Given the description of an element on the screen output the (x, y) to click on. 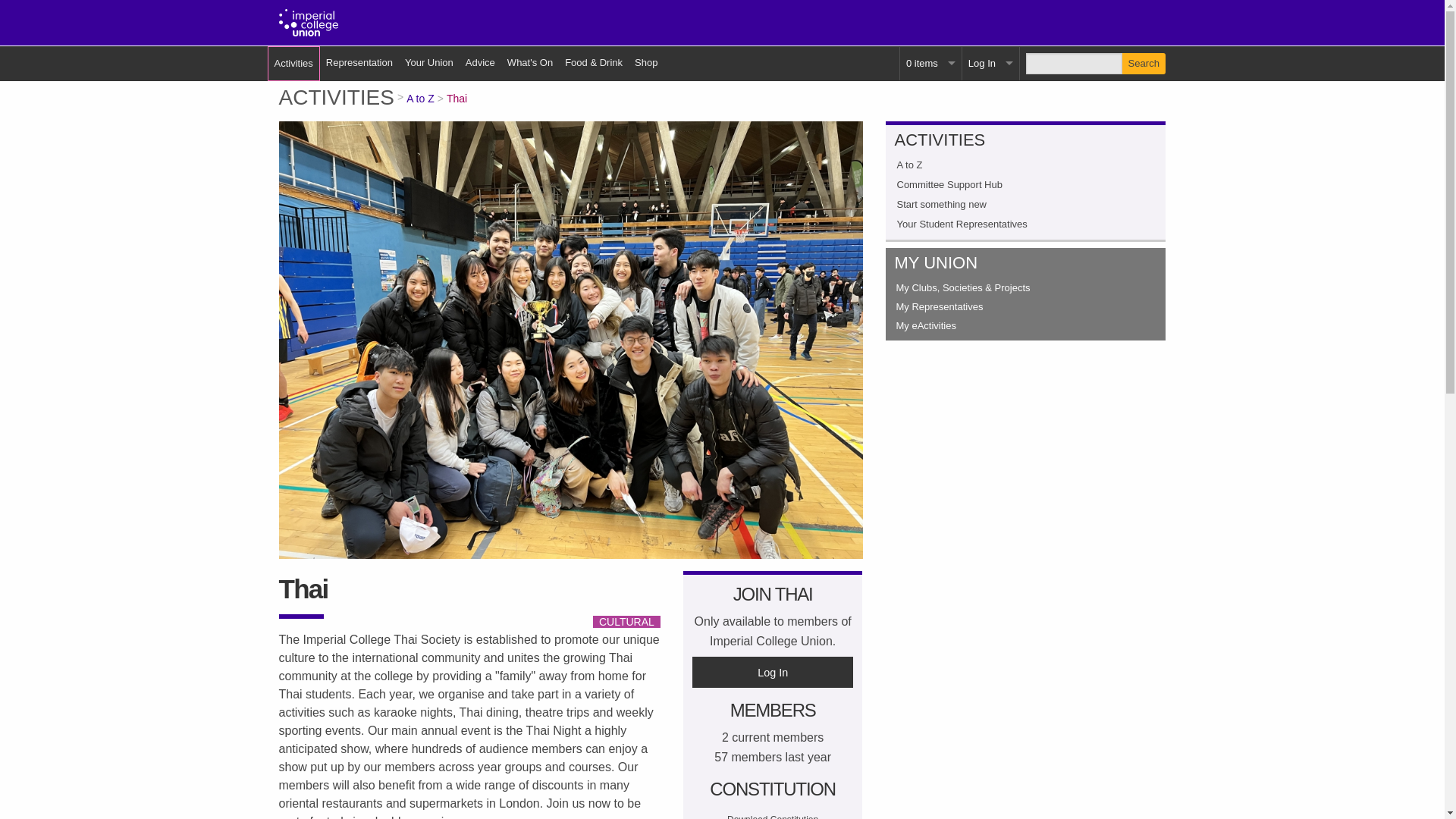
Imperial College Union Home (309, 21)
Imperial College Union Home (309, 22)
Activities (292, 63)
Search (1144, 63)
Representation (359, 62)
